Given the description of an element on the screen output the (x, y) to click on. 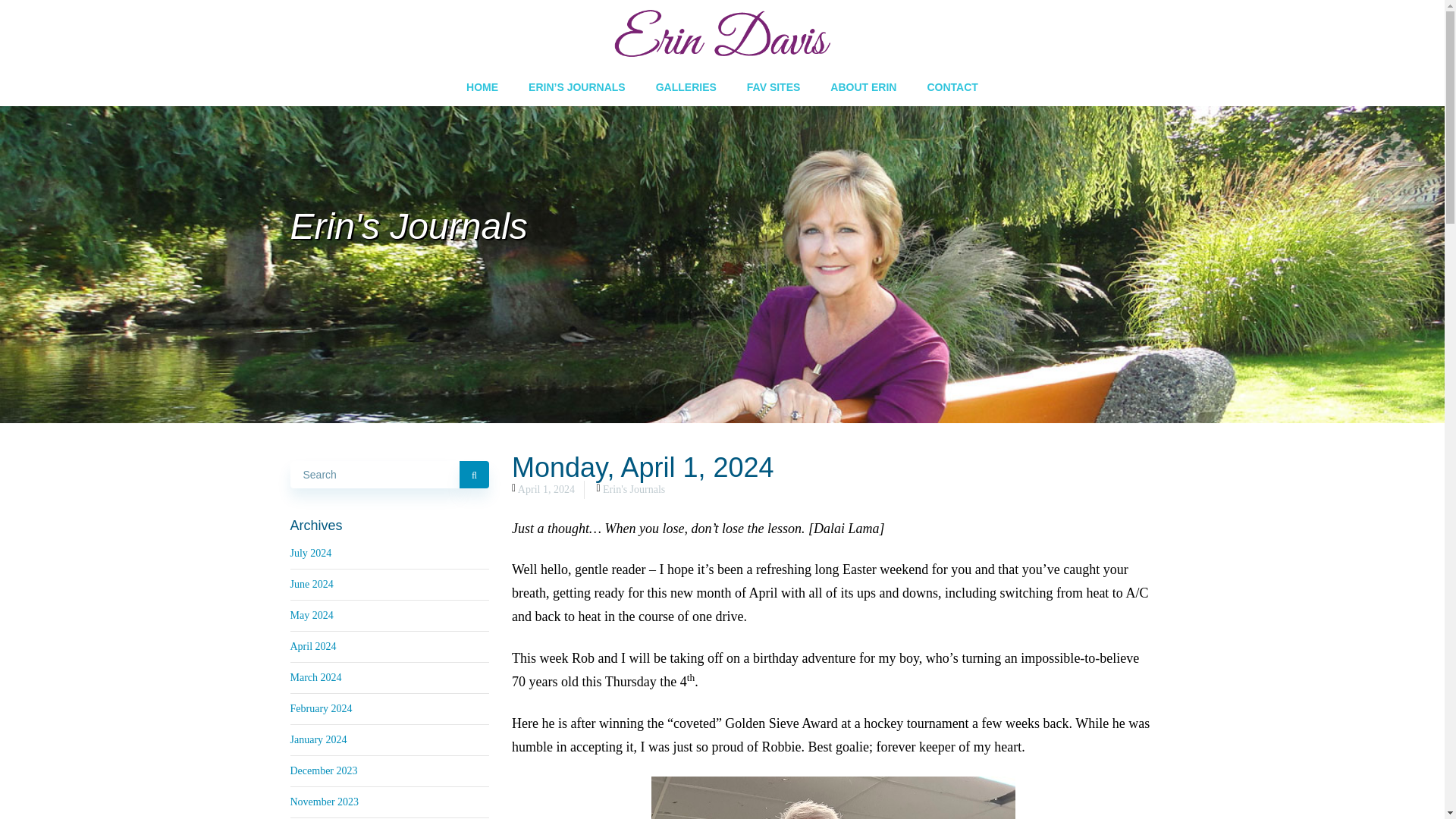
ABOUT ERIN (863, 86)
HOME (482, 86)
May 2024 (311, 614)
December 2023 (322, 770)
January 2024 (317, 739)
April 2024 (312, 645)
February 2024 (320, 708)
CONTACT (951, 86)
June 2024 (311, 583)
March 2024 (314, 677)
FAV SITES (773, 86)
July 2024 (310, 552)
November 2023 (323, 801)
Search (474, 474)
Erin's Journals (633, 489)
